Given the description of an element on the screen output the (x, y) to click on. 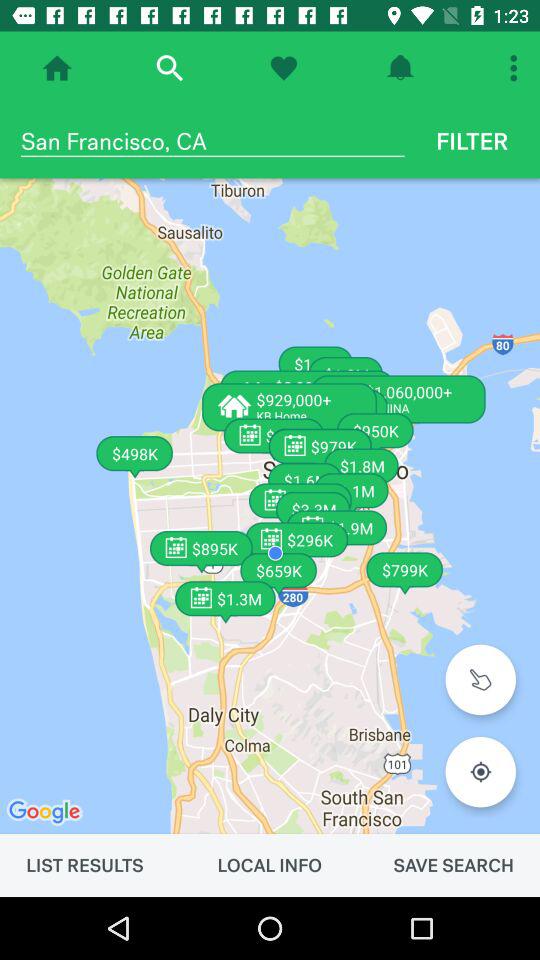
tap icon next to save search item (269, 865)
